Given the description of an element on the screen output the (x, y) to click on. 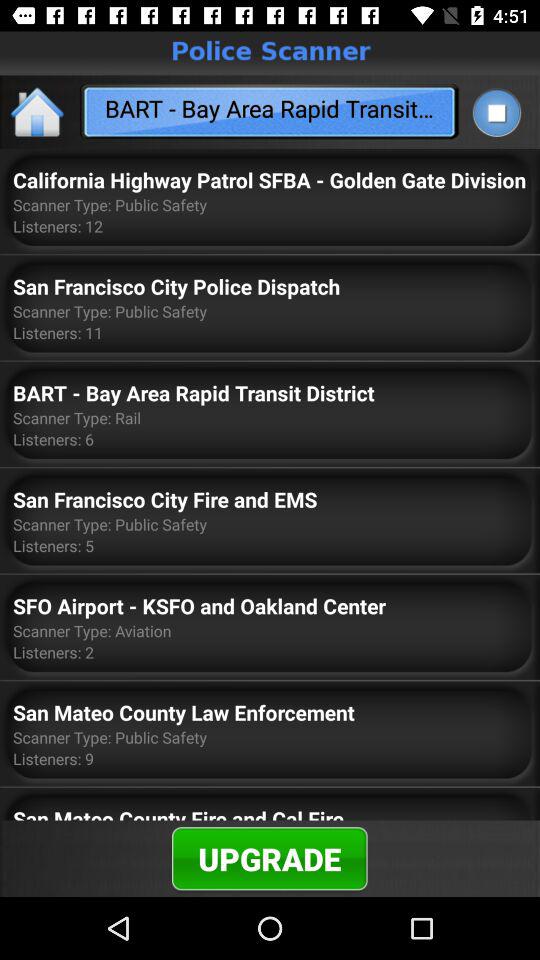
open sfo airport ksfo (199, 605)
